Given the description of an element on the screen output the (x, y) to click on. 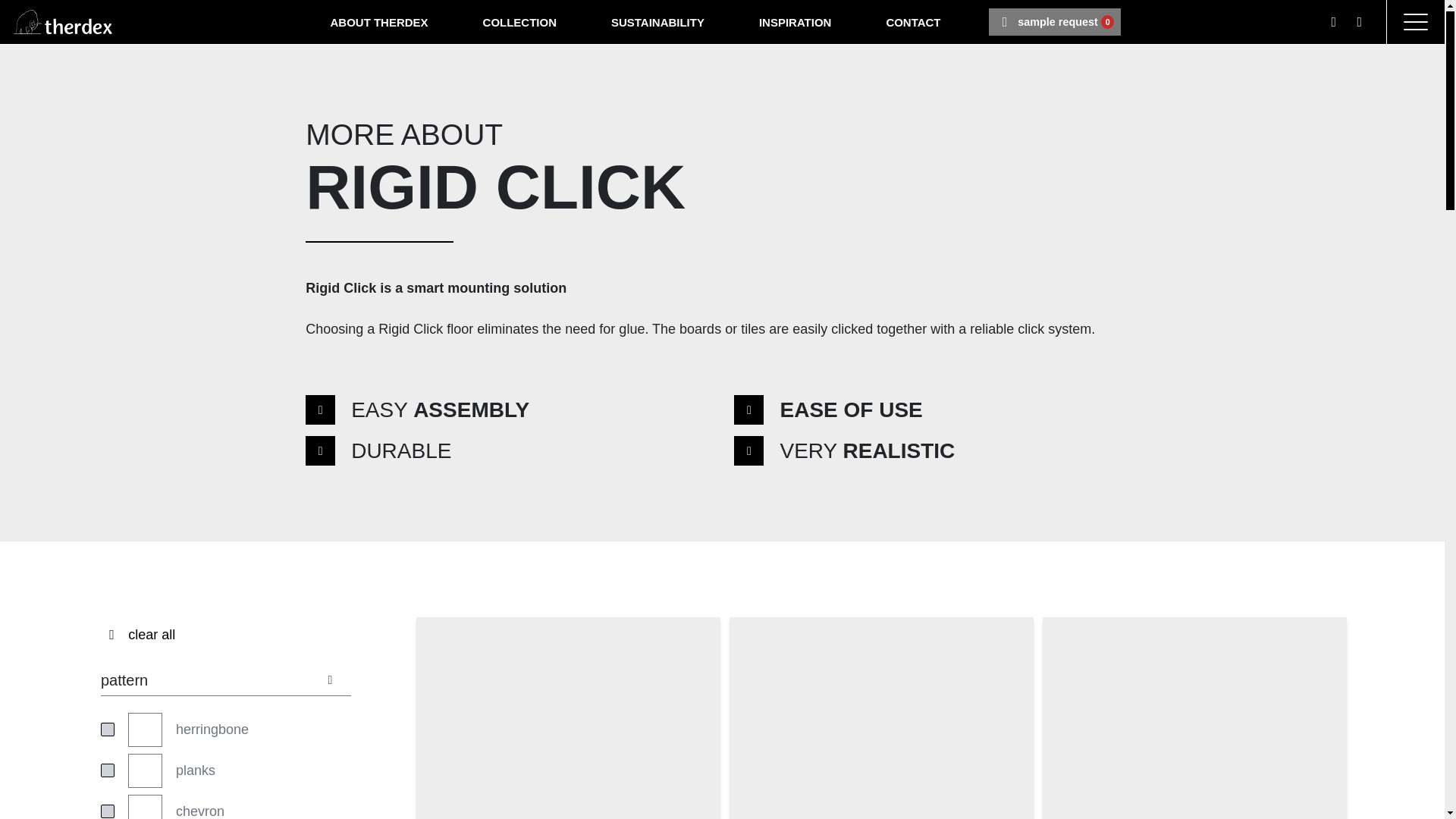
Collection (519, 21)
INSPIRATION (795, 21)
Inspiration (795, 21)
CONTACT (1054, 22)
SUSTAINABILITY (913, 21)
COLLECTION (657, 21)
ABOUT THERDEX (519, 21)
Sustainability (379, 21)
Contact (657, 21)
About Therdex (913, 21)
